Given the description of an element on the screen output the (x, y) to click on. 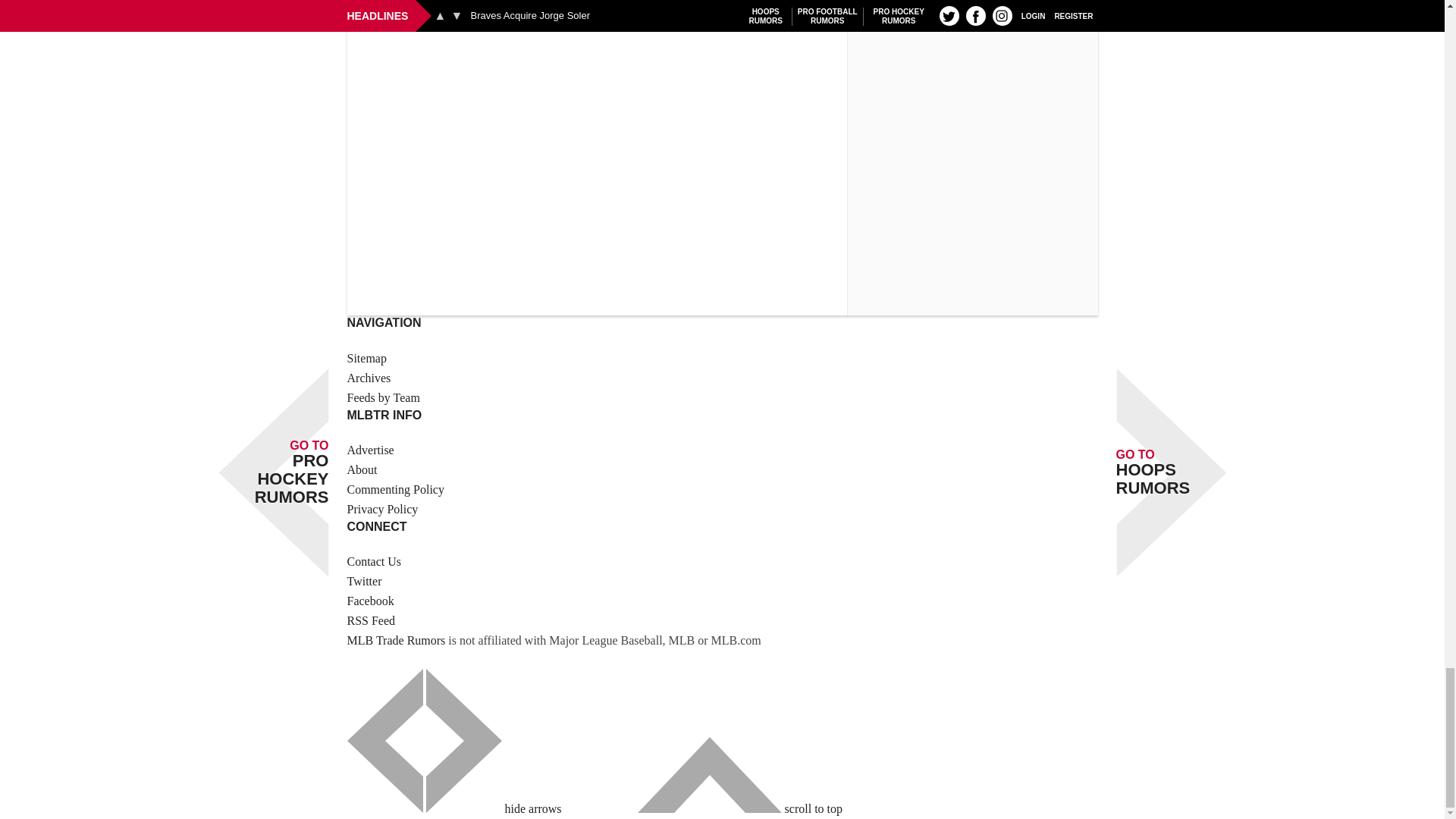
MLB Trade Rumors (396, 640)
